Given the description of an element on the screen output the (x, y) to click on. 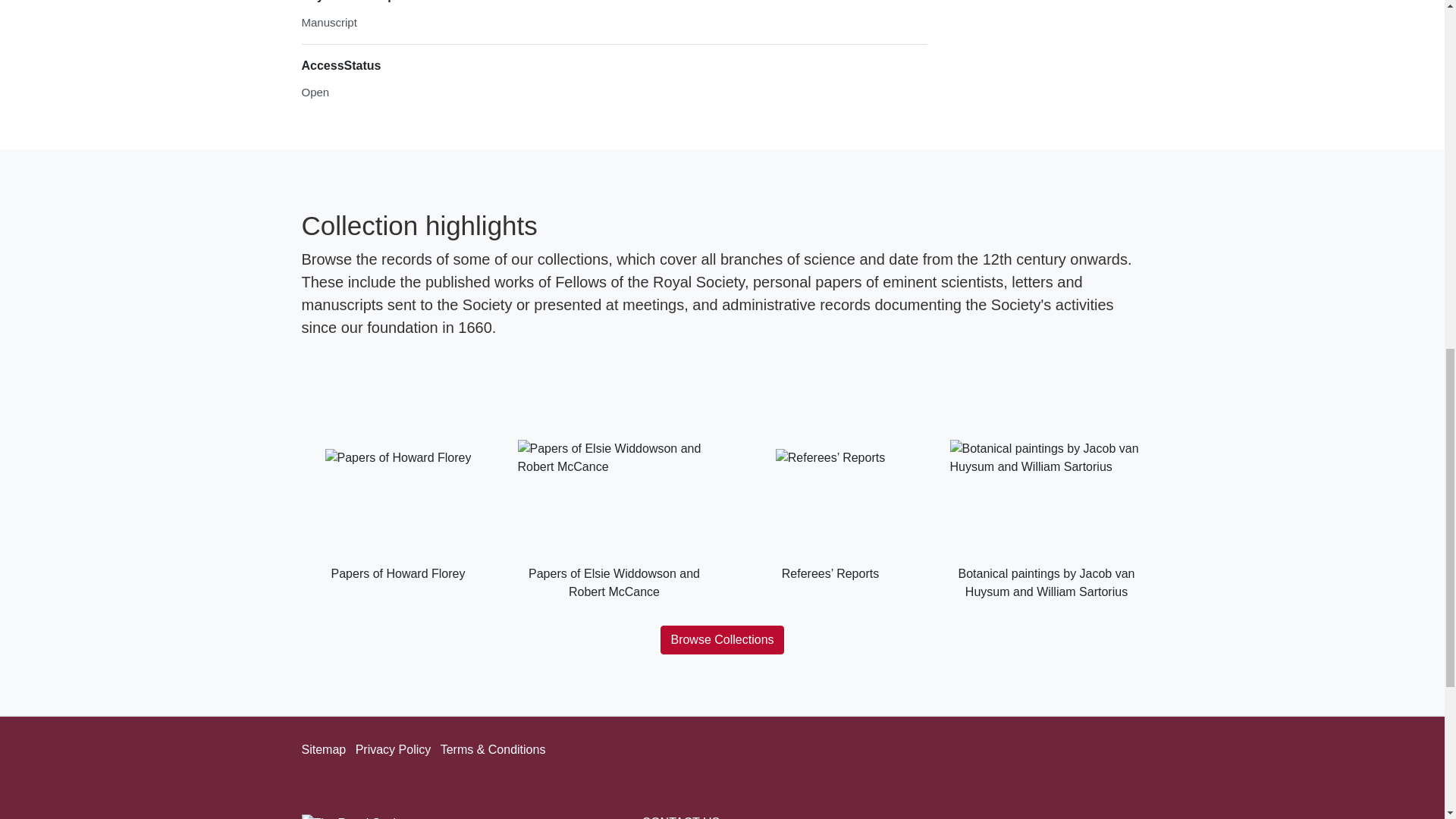
Privacy Policy (392, 748)
Browse Collections (722, 639)
Sitemap (323, 748)
